Given the description of an element on the screen output the (x, y) to click on. 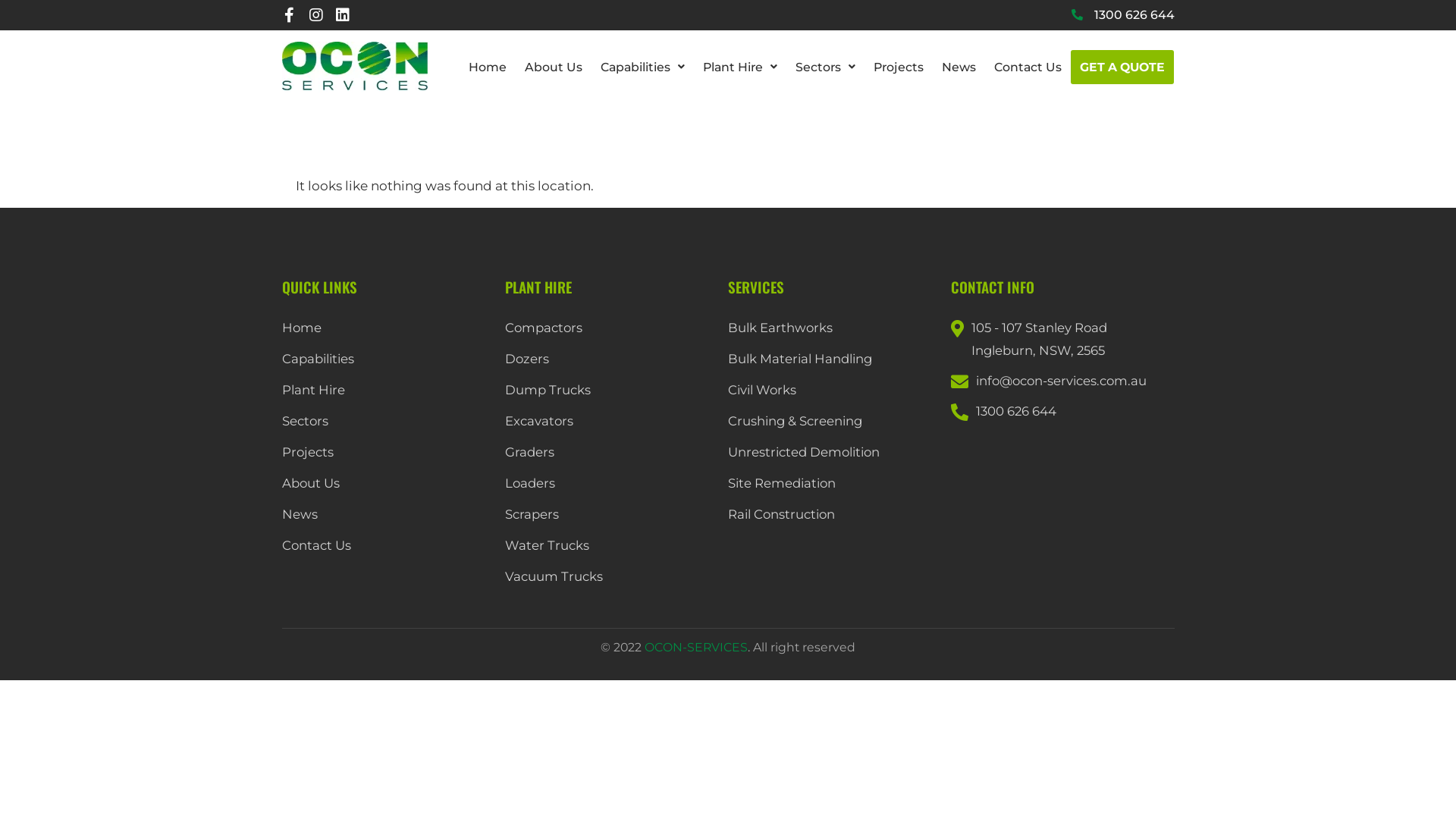
Bulk Earthworks Element type: text (833, 327)
Projects Element type: text (387, 451)
About Us Element type: text (387, 482)
Plant Hire Element type: text (739, 67)
Rail Construction Element type: text (833, 513)
Civil Works Element type: text (833, 389)
Graders Element type: text (610, 451)
Water Trucks Element type: text (610, 544)
Site Remediation Element type: text (833, 482)
Dump Trucks Element type: text (610, 389)
Vacuum Trucks Element type: text (610, 575)
Contact Us Element type: text (1027, 67)
Plant Hire Element type: text (387, 389)
Bulk Material Handling Element type: text (833, 358)
Compactors Element type: text (610, 327)
News Element type: text (958, 67)
Projects Element type: text (898, 67)
Crushing & Screening Element type: text (833, 420)
Capabilities Element type: text (387, 358)
Scrapers Element type: text (610, 513)
Unrestricted Demolition Element type: text (833, 451)
Home Element type: text (387, 327)
1300 626 644 Element type: text (1121, 15)
Home Element type: text (487, 67)
Contact Us Element type: text (387, 544)
Sectors Element type: text (387, 420)
Excavators Element type: text (610, 420)
News Element type: text (387, 513)
Loaders Element type: text (610, 482)
Dozers Element type: text (610, 358)
About Us Element type: text (553, 67)
Capabilities Element type: text (642, 67)
Sectors Element type: text (825, 67)
GET A QUOTE Element type: text (1121, 67)
